Given the description of an element on the screen output the (x, y) to click on. 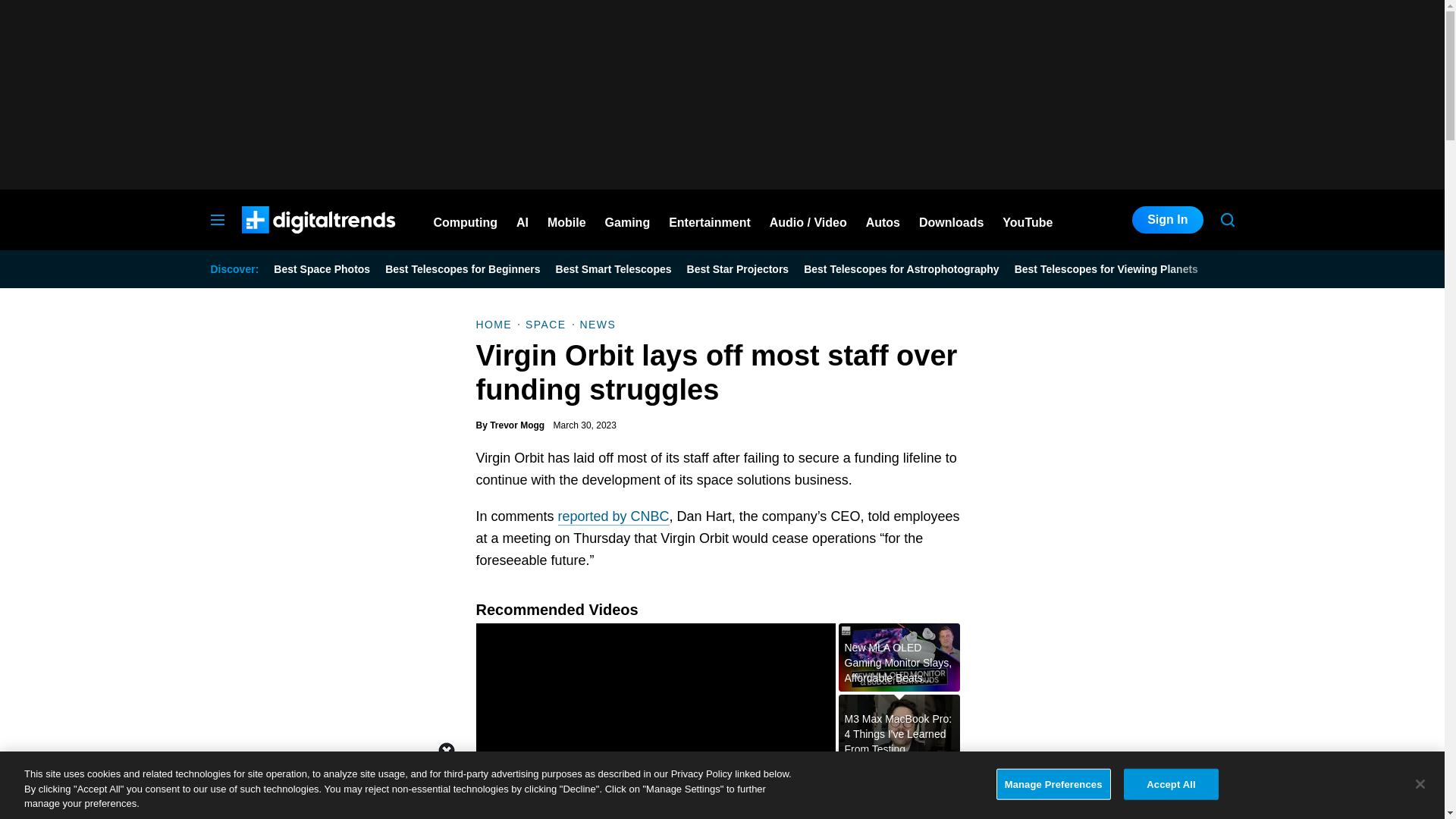
Entertainment (709, 219)
3rd party ad content (721, 785)
3rd party ad content (1120, 633)
3rd party ad content (721, 94)
Mobile (566, 219)
YouTube (1027, 219)
Sign In (1167, 219)
Autos (882, 219)
AI (522, 219)
Downloads (951, 219)
Computing (465, 219)
Gaming (627, 219)
